Given the description of an element on the screen output the (x, y) to click on. 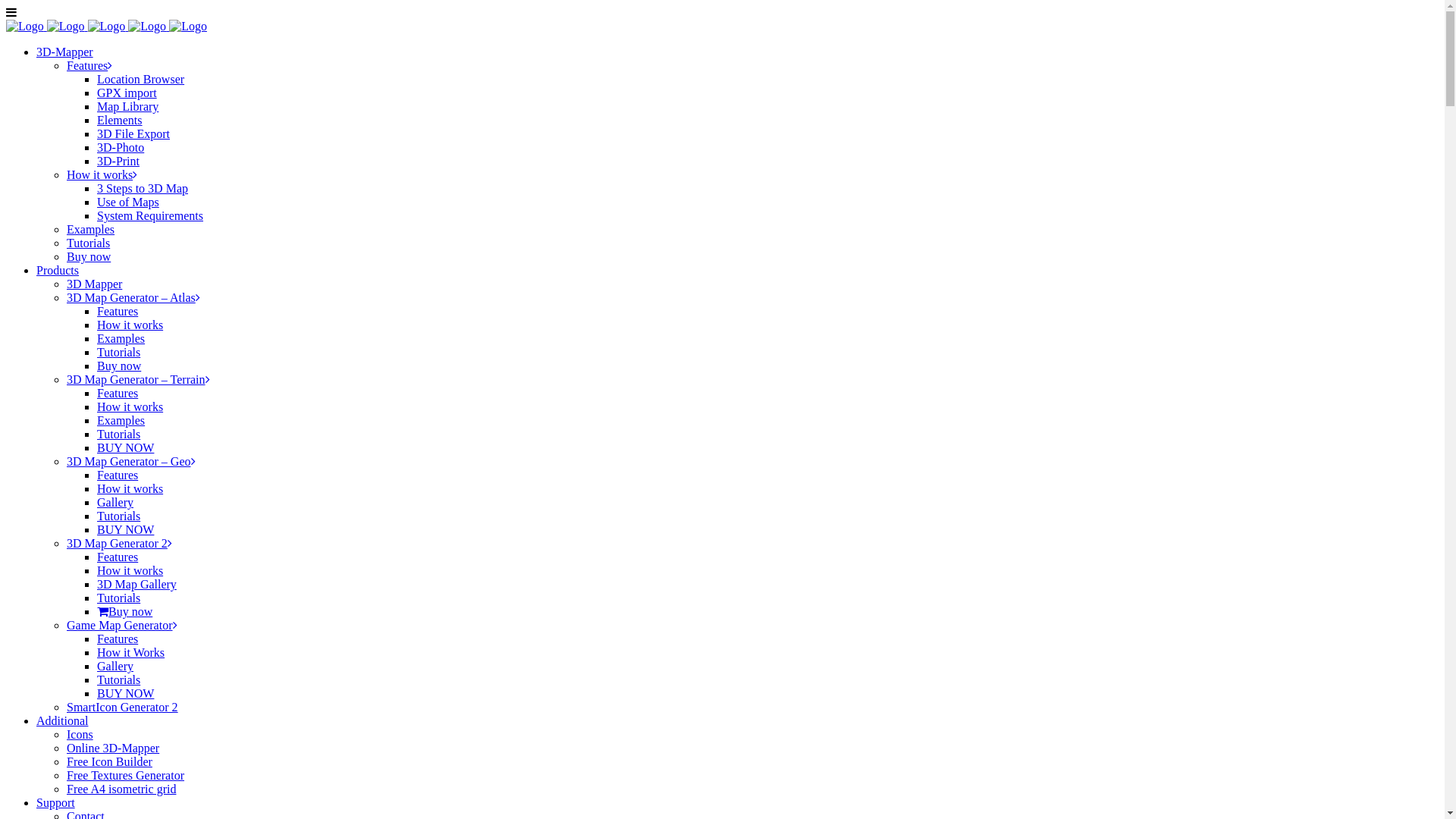
Features Element type: text (89, 65)
Elements Element type: text (119, 119)
Gallery Element type: text (115, 501)
How it Works Element type: text (130, 652)
BUY NOW Element type: text (125, 529)
BUY NOW Element type: text (125, 693)
3D Map Generator 2 Element type: text (119, 542)
Products Element type: text (57, 269)
How it works Element type: text (130, 406)
Buy now Element type: text (88, 256)
Examples Element type: text (90, 228)
Tutorials Element type: text (118, 433)
Tutorials Element type: text (118, 351)
Icons Element type: text (79, 734)
Features Element type: text (117, 392)
How it works Element type: text (130, 570)
How it works Element type: text (130, 324)
Tutorials Element type: text (87, 242)
Use of Maps Element type: text (128, 201)
Online 3D-Mapper Element type: text (112, 747)
How it works Element type: text (130, 488)
Location Browser Element type: text (140, 78)
3D File Export Element type: text (133, 133)
Features Element type: text (117, 556)
Examples Element type: text (120, 420)
3D-Print Element type: text (118, 160)
SmartIcon Generator 2 Element type: text (122, 706)
3D Map Gallery Element type: text (136, 583)
GPX import Element type: text (126, 92)
Buy now Element type: text (119, 365)
Additional Element type: text (61, 720)
Buy now Element type: text (124, 611)
3D-Photo Element type: text (120, 147)
3 Steps to 3D Map Element type: text (142, 188)
System Requirements Element type: text (150, 215)
Tutorials Element type: text (118, 679)
Features Element type: text (117, 310)
Gallery Element type: text (115, 665)
Features Element type: text (117, 474)
Support Element type: text (55, 802)
Tutorials Element type: text (118, 597)
Free A4 isometric grid Element type: text (120, 788)
3D Mapper Element type: text (94, 283)
Tutorials Element type: text (118, 515)
Free Textures Generator Element type: text (125, 774)
Examples Element type: text (120, 338)
BUY NOW Element type: text (125, 447)
Map Library Element type: text (127, 106)
Game Map Generator Element type: text (121, 624)
3D-Mapper Element type: text (64, 51)
Free Icon Builder Element type: text (109, 761)
Features Element type: text (117, 638)
How it works Element type: text (101, 174)
